Given the description of an element on the screen output the (x, y) to click on. 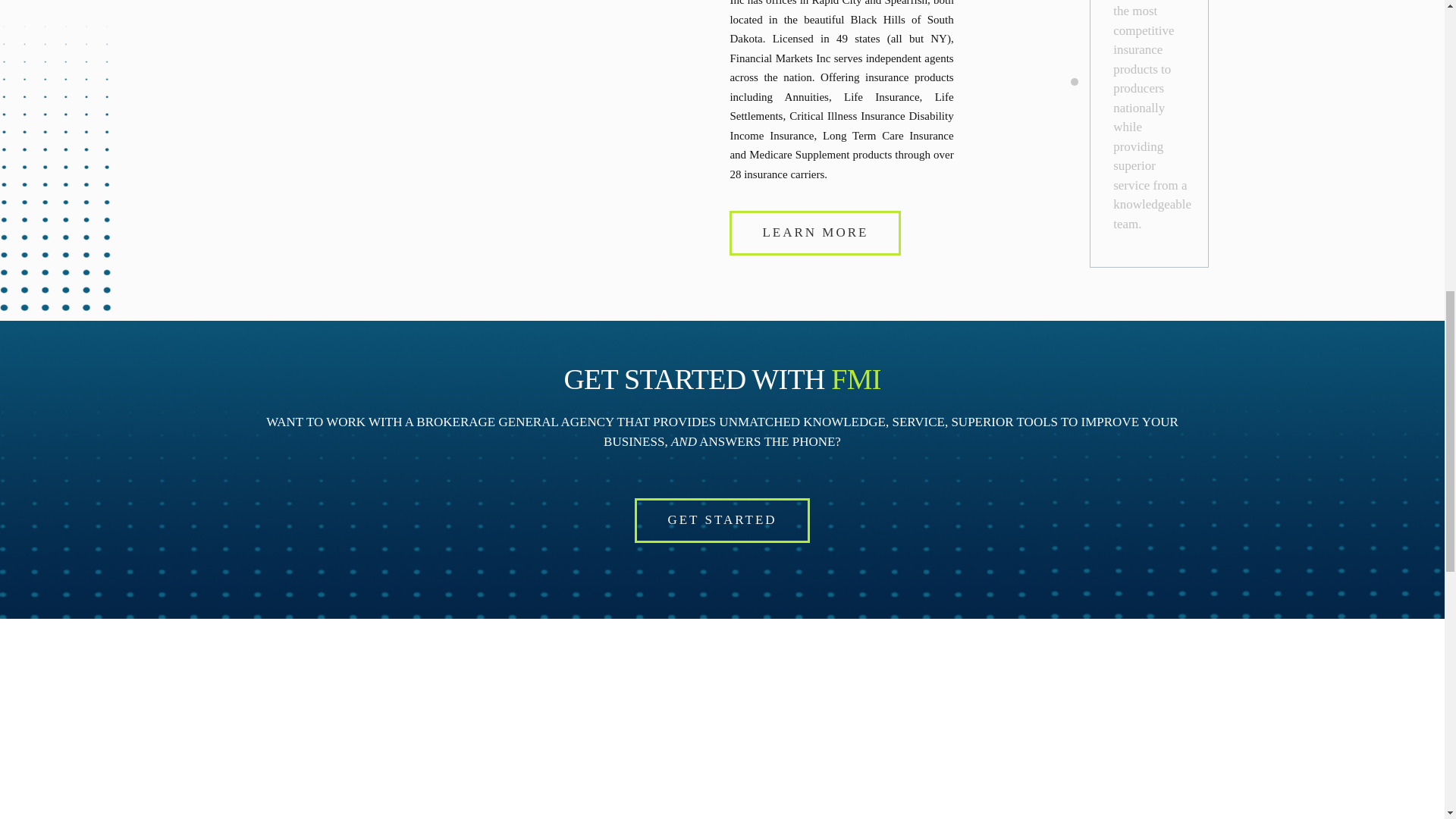
LEARN MORE (815, 232)
